Given the description of an element on the screen output the (x, y) to click on. 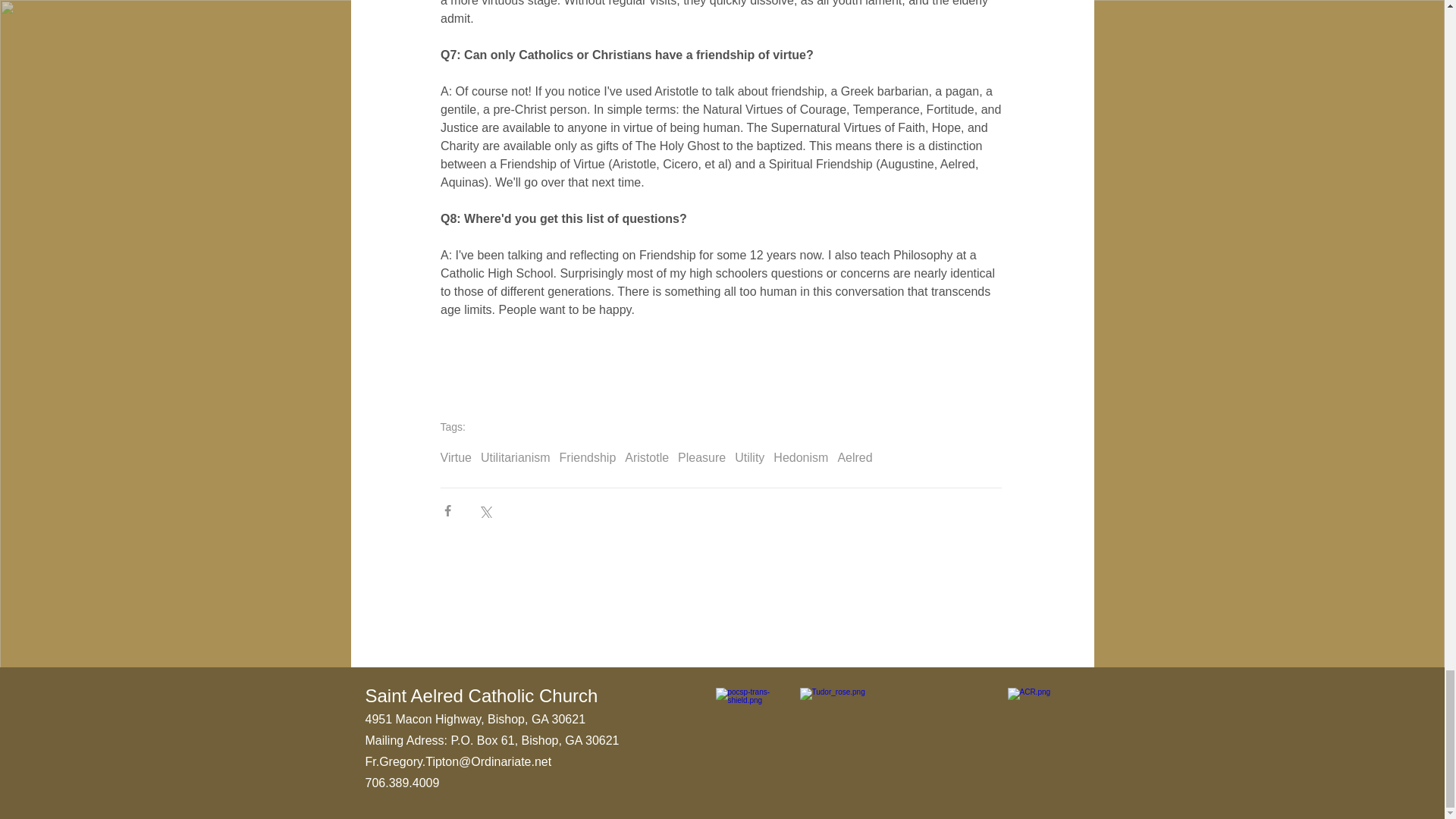
Hedonism (800, 458)
Friendship (587, 458)
Pleasure (701, 458)
Utilitarianism (515, 458)
Aristotle (646, 458)
Aelred (854, 458)
Utility (749, 458)
Virtue (455, 458)
